Given the description of an element on the screen output the (x, y) to click on. 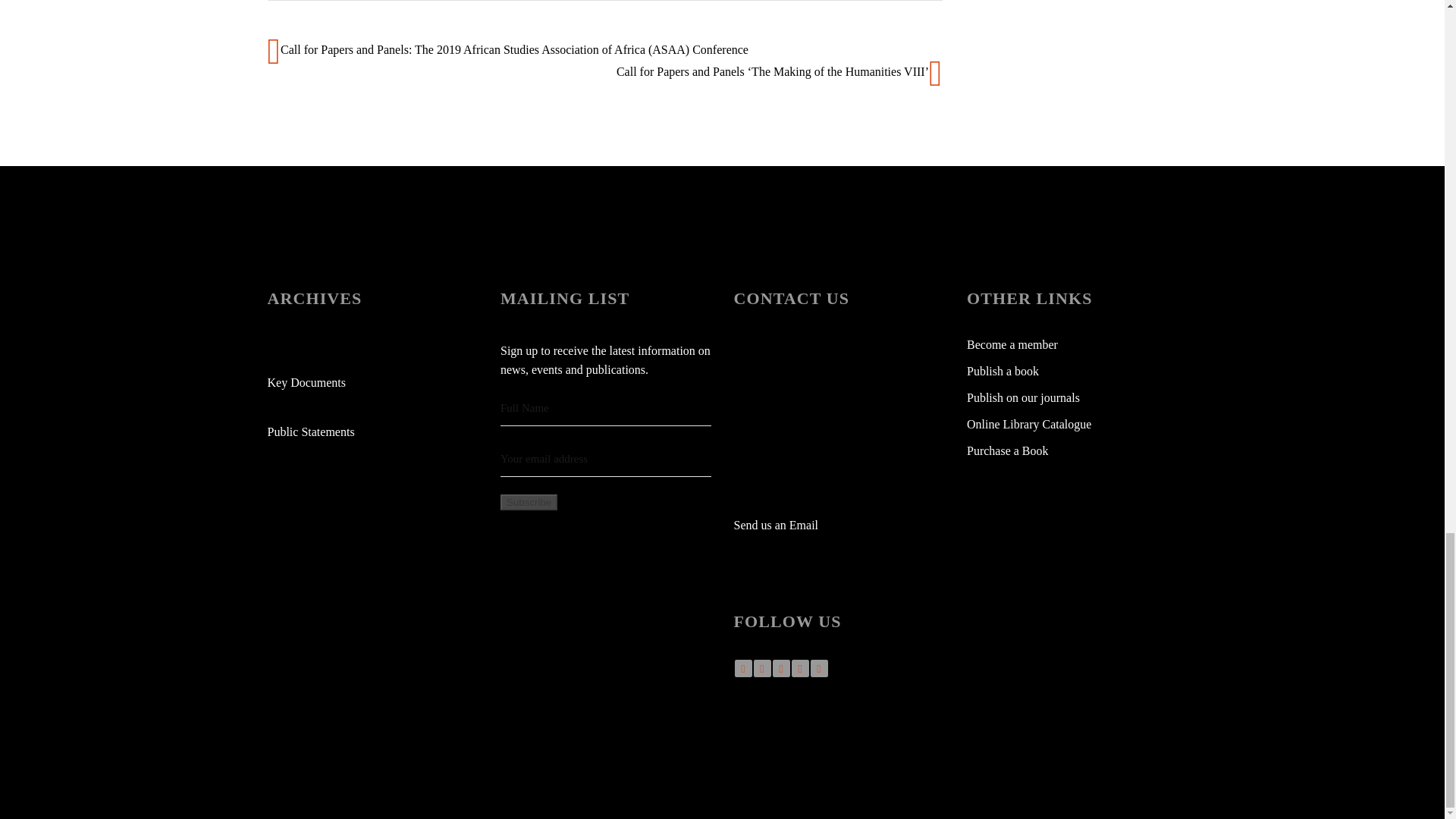
Subscribe (528, 502)
LinkedIn (800, 668)
Twitter (762, 668)
Instagram (818, 668)
YouTube (780, 668)
Facebook (742, 668)
